Given the description of an element on the screen output the (x, y) to click on. 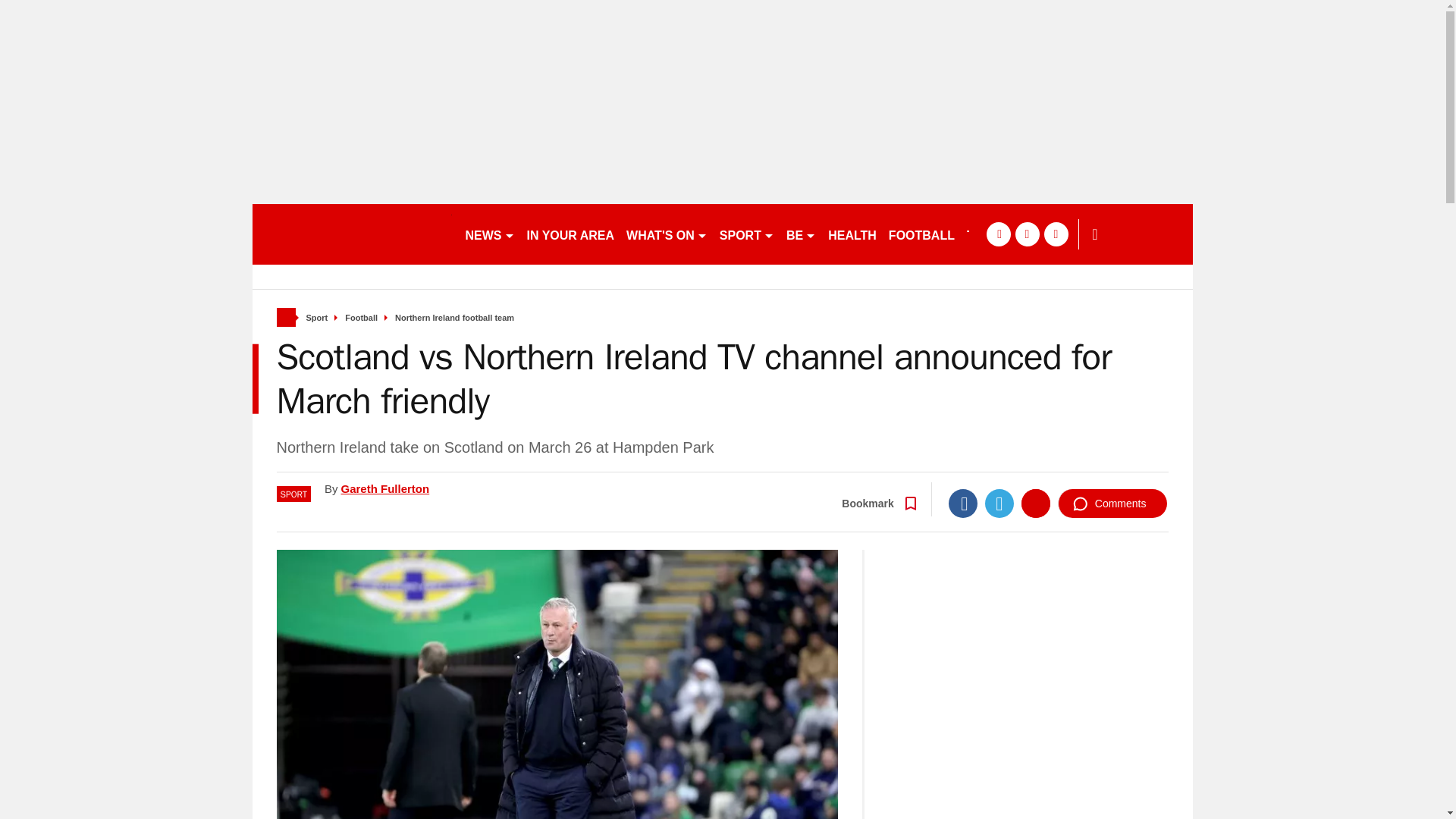
twitter (1026, 233)
instagram (1055, 233)
Comments (1112, 502)
SPORT (746, 233)
belfastlive (351, 233)
facebook (997, 233)
Facebook (962, 502)
Twitter (999, 502)
NEWS (490, 233)
WHAT'S ON (666, 233)
